Given the description of an element on the screen output the (x, y) to click on. 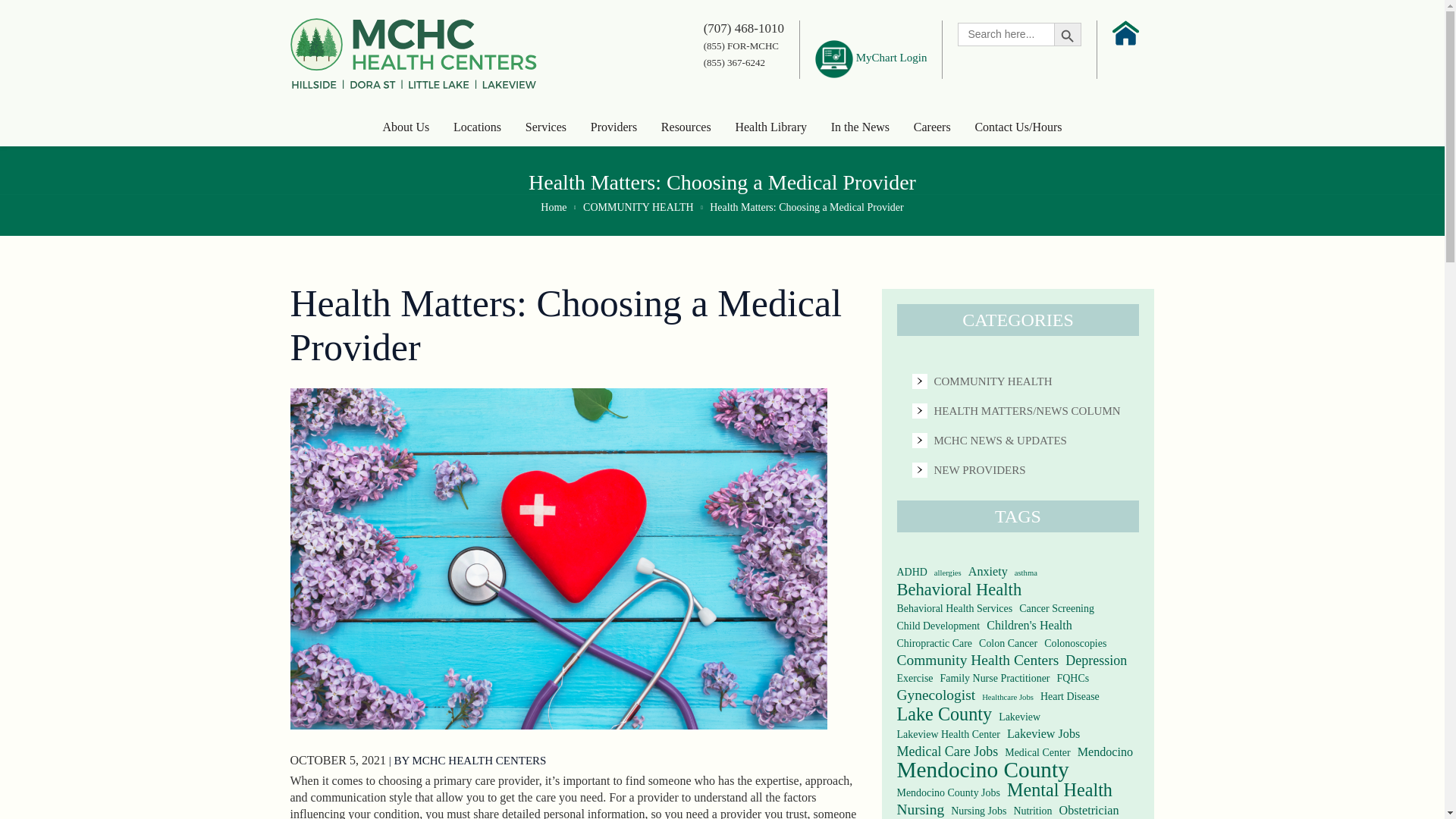
Search Button (1067, 33)
About Us (405, 127)
Resources (686, 127)
Locations (476, 127)
Providers (614, 127)
Services (545, 127)
MyChart Login (871, 57)
